Given the description of an element on the screen output the (x, y) to click on. 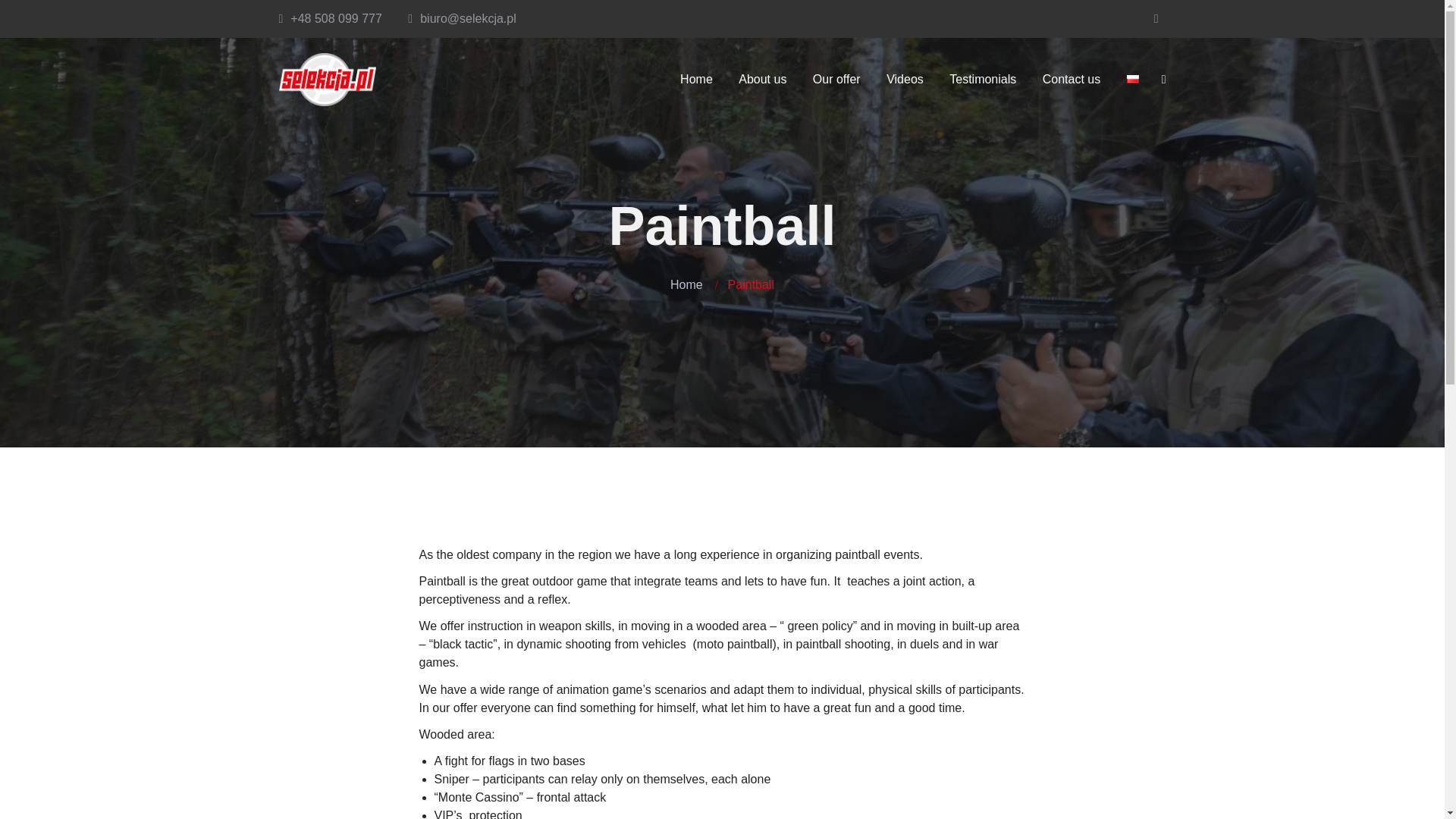
About us (761, 79)
Home (695, 79)
Contact us (1071, 79)
Home (686, 284)
Videos (904, 79)
Testimonials (982, 79)
Our offer (837, 79)
